Given the description of an element on the screen output the (x, y) to click on. 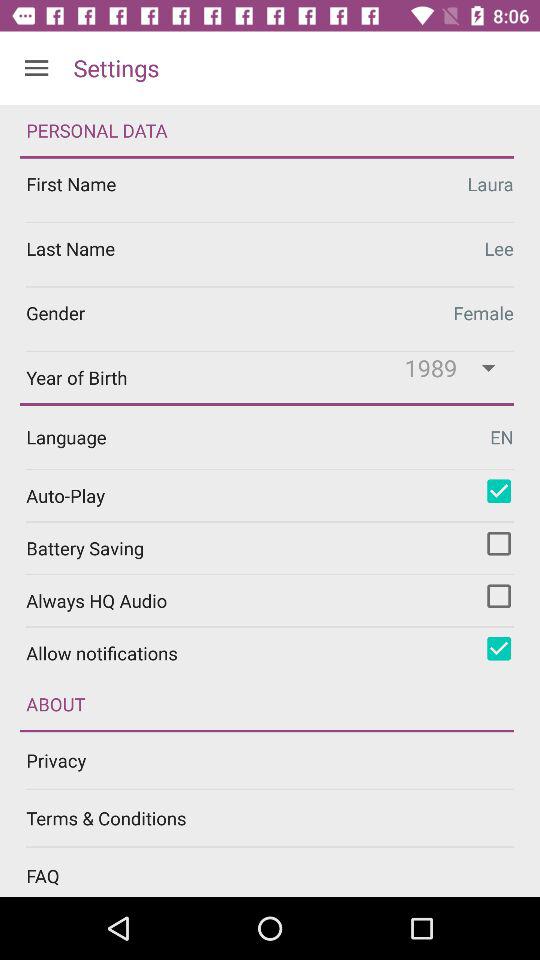
flip to faq (283, 875)
